Given the description of an element on the screen output the (x, y) to click on. 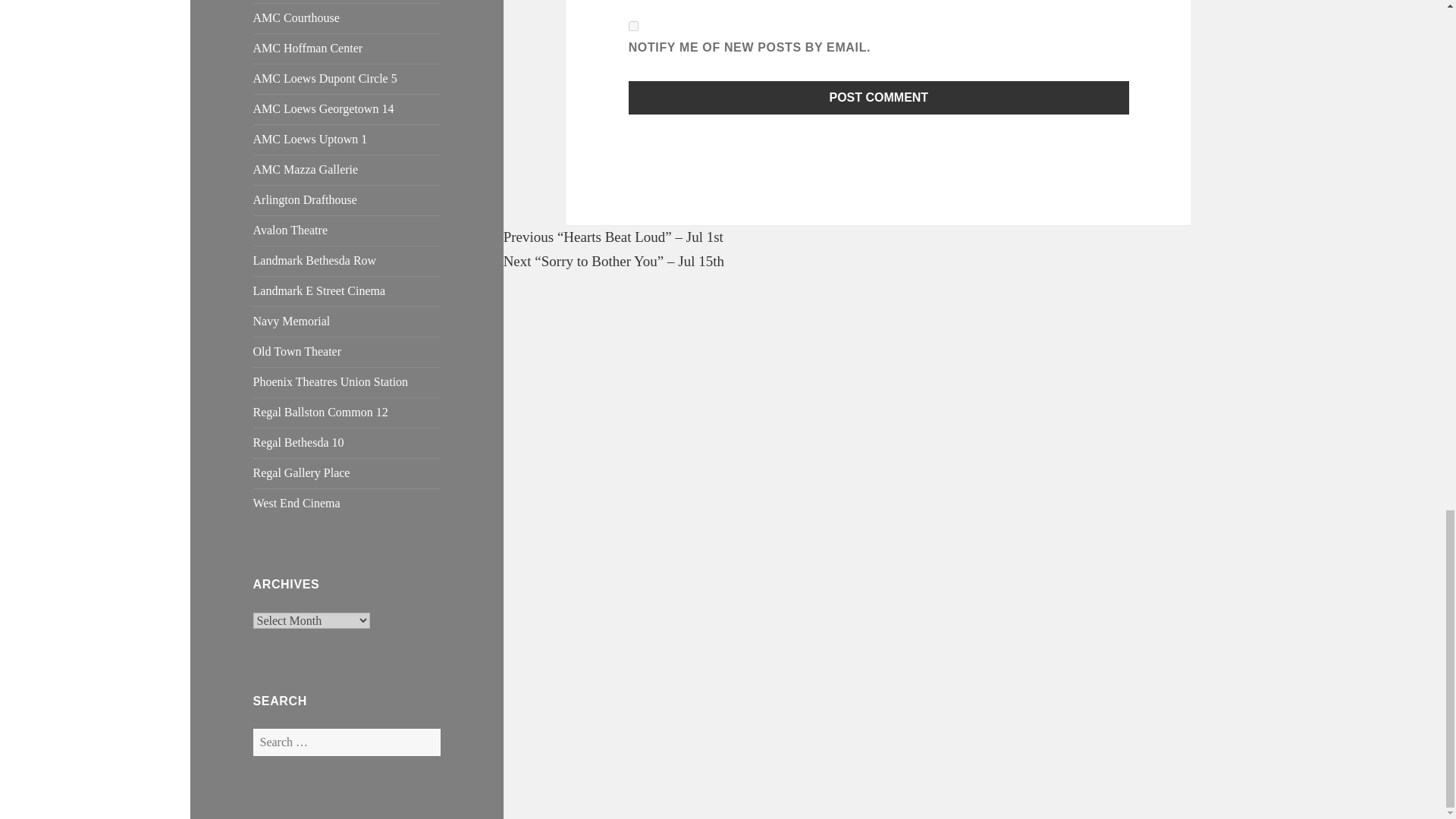
Regal Gallery Place (301, 472)
AMC Loews Uptown 1 (310, 138)
West End Cinema (296, 502)
Avalon Theatre (290, 229)
Landmark E Street Cinema (319, 290)
Phoenix Theatres Union Station (331, 381)
AMC Courthouse (296, 17)
subscribe (633, 26)
AMC Loews Georgetown 14 (323, 108)
